Given the description of an element on the screen output the (x, y) to click on. 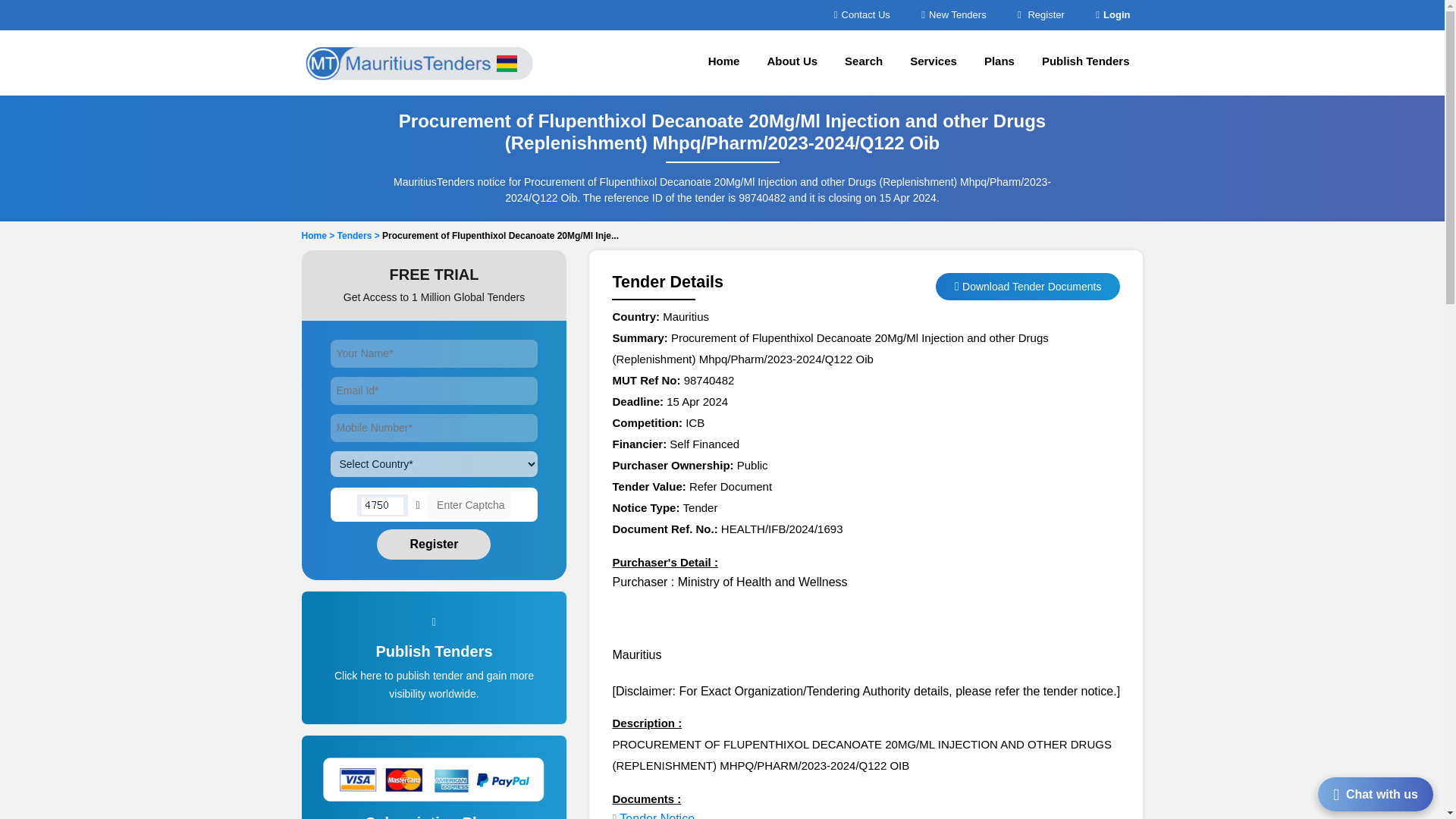
Publish Tenders (434, 675)
Download Tender Documents (1031, 286)
Login (1112, 14)
Plans (999, 62)
Services (933, 62)
Home (724, 62)
Search (863, 62)
Register (1040, 14)
Tender Notice (657, 815)
Publish Tenders (1084, 62)
Contact Us (861, 14)
New Tenders (953, 14)
Register (433, 544)
About Us (791, 62)
